Given the description of an element on the screen output the (x, y) to click on. 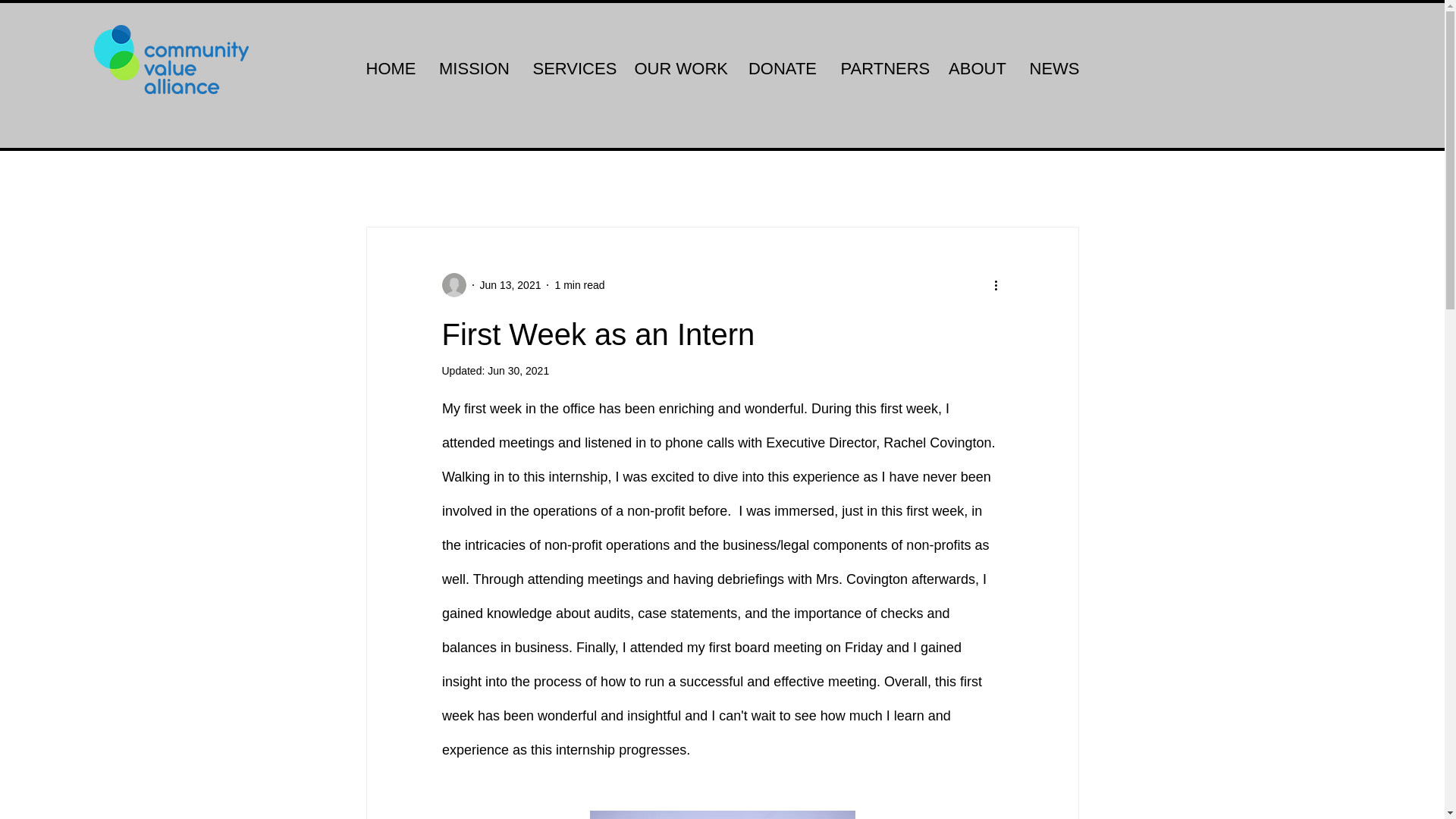
ABOUT (977, 68)
DONATE (781, 68)
Jun 30, 2021 (517, 370)
MISSION (474, 68)
PARTNERS (883, 68)
SERVICES (572, 68)
Jun 13, 2021 (509, 285)
HOME (391, 68)
NEWS (1053, 68)
OUR WORK (679, 68)
1 min read (579, 285)
